Given the description of an element on the screen output the (x, y) to click on. 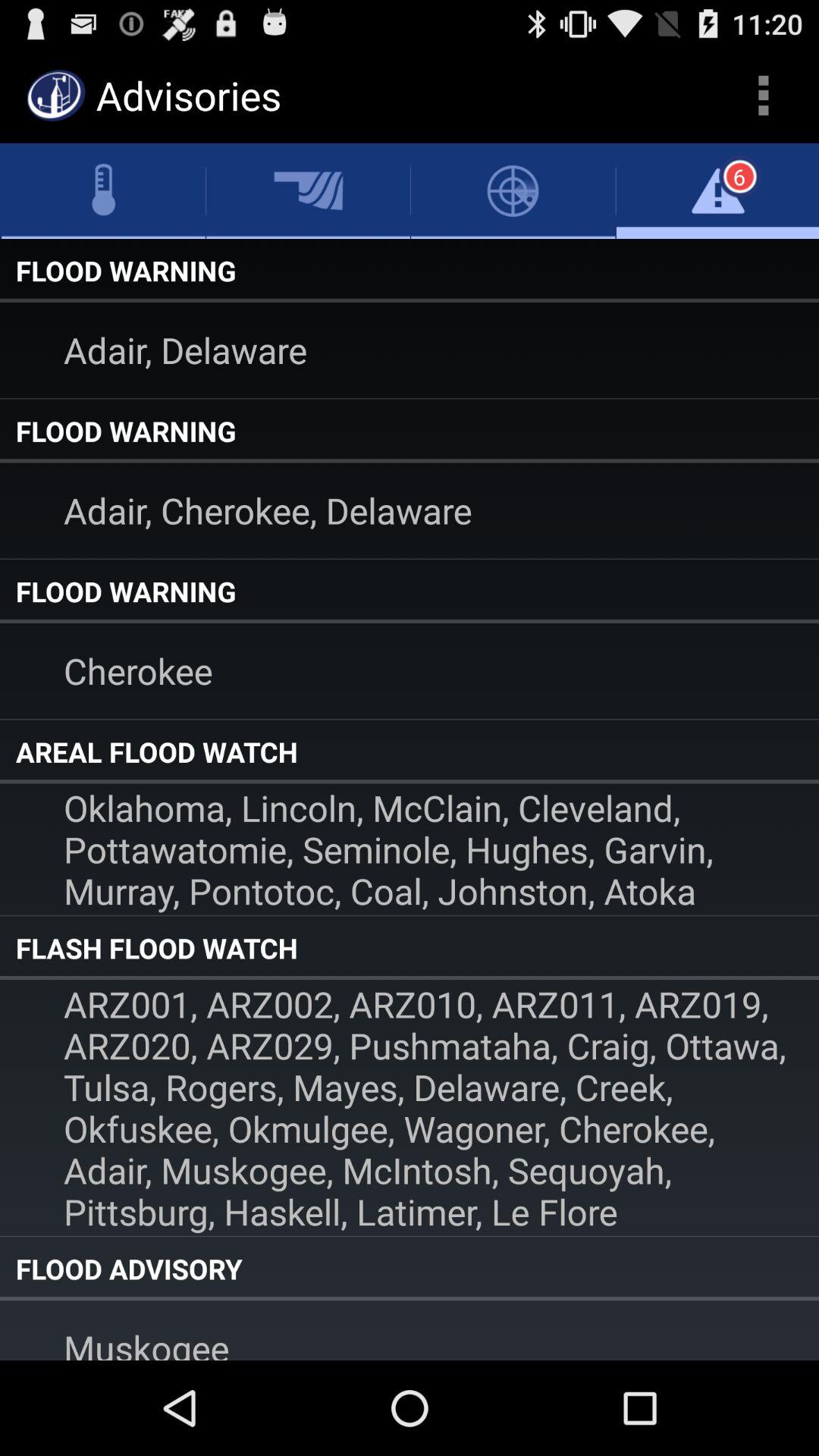
choose item below the arz001 arz002 arz010 icon (409, 1268)
